Given the description of an element on the screen output the (x, y) to click on. 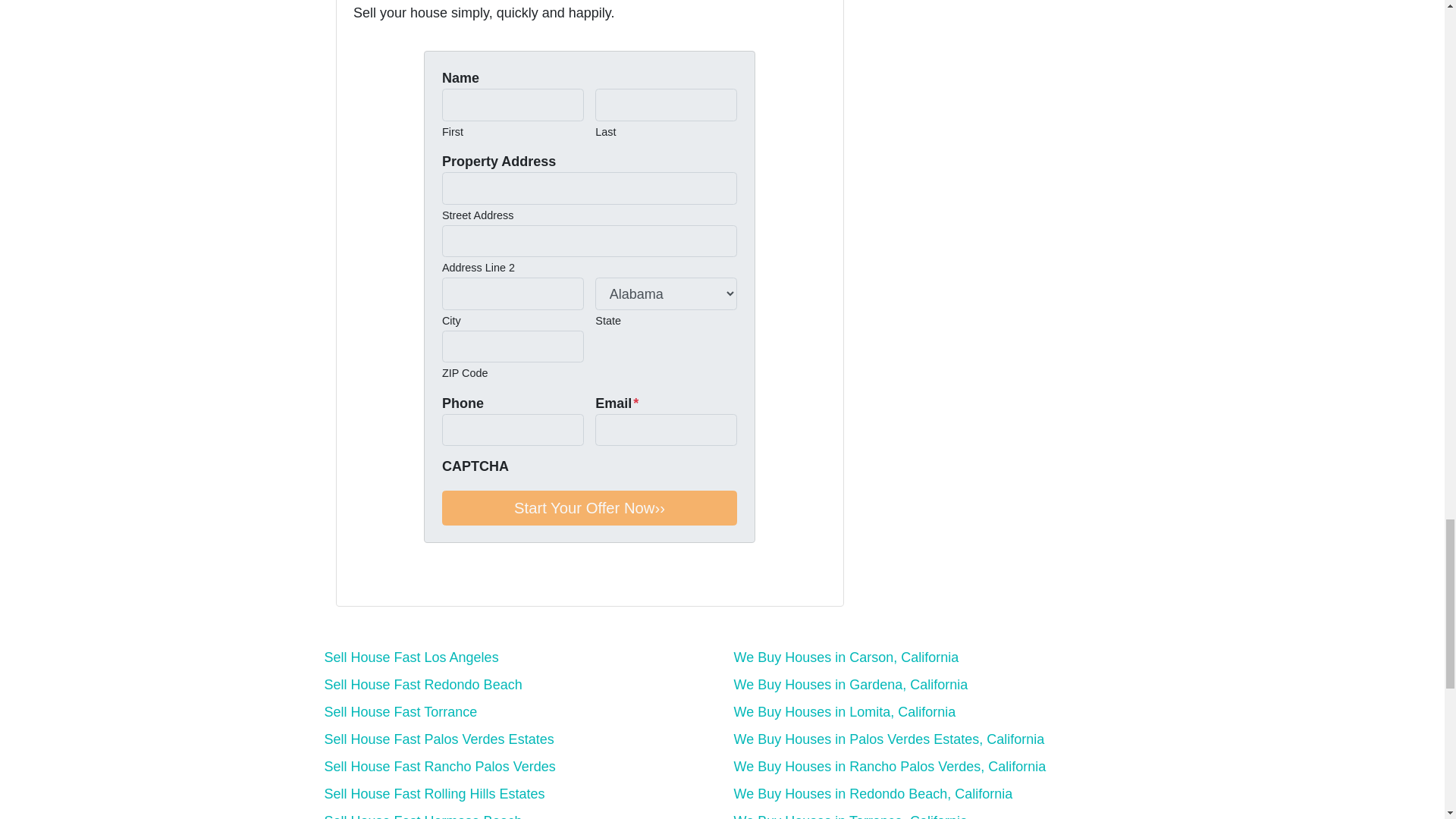
Sell House Fast Los Angeles (411, 657)
LinkedIn (425, 579)
Zillow (468, 579)
Instagram (447, 579)
Twitter (362, 579)
Facebook (383, 579)
Houzz (489, 579)
YouTube (404, 579)
